Given the description of an element on the screen output the (x, y) to click on. 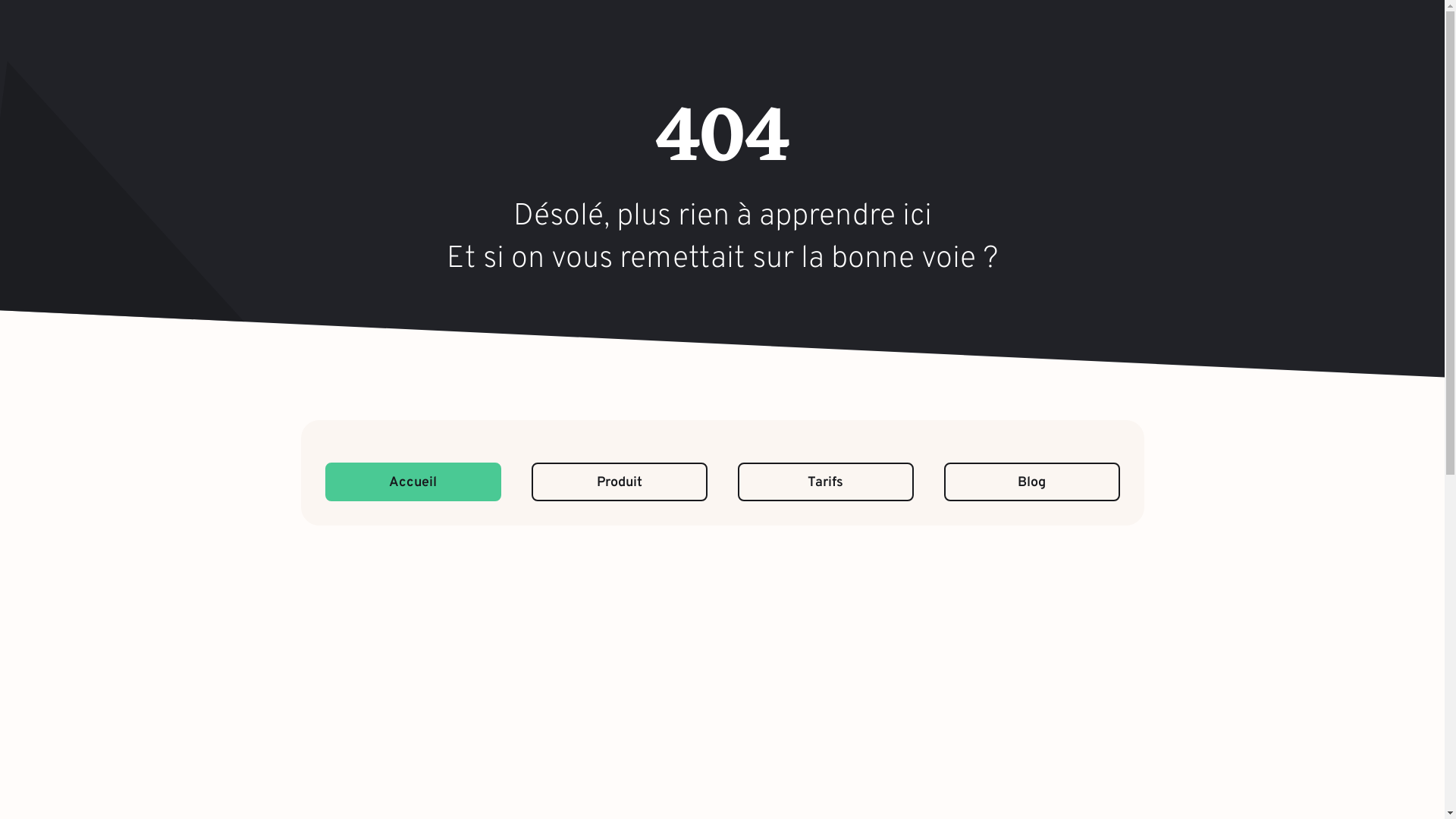
Tarifs Element type: text (825, 481)
Accueil Element type: text (412, 481)
Produit Element type: text (618, 481)
Blog Element type: text (1031, 481)
